Given the description of an element on the screen output the (x, y) to click on. 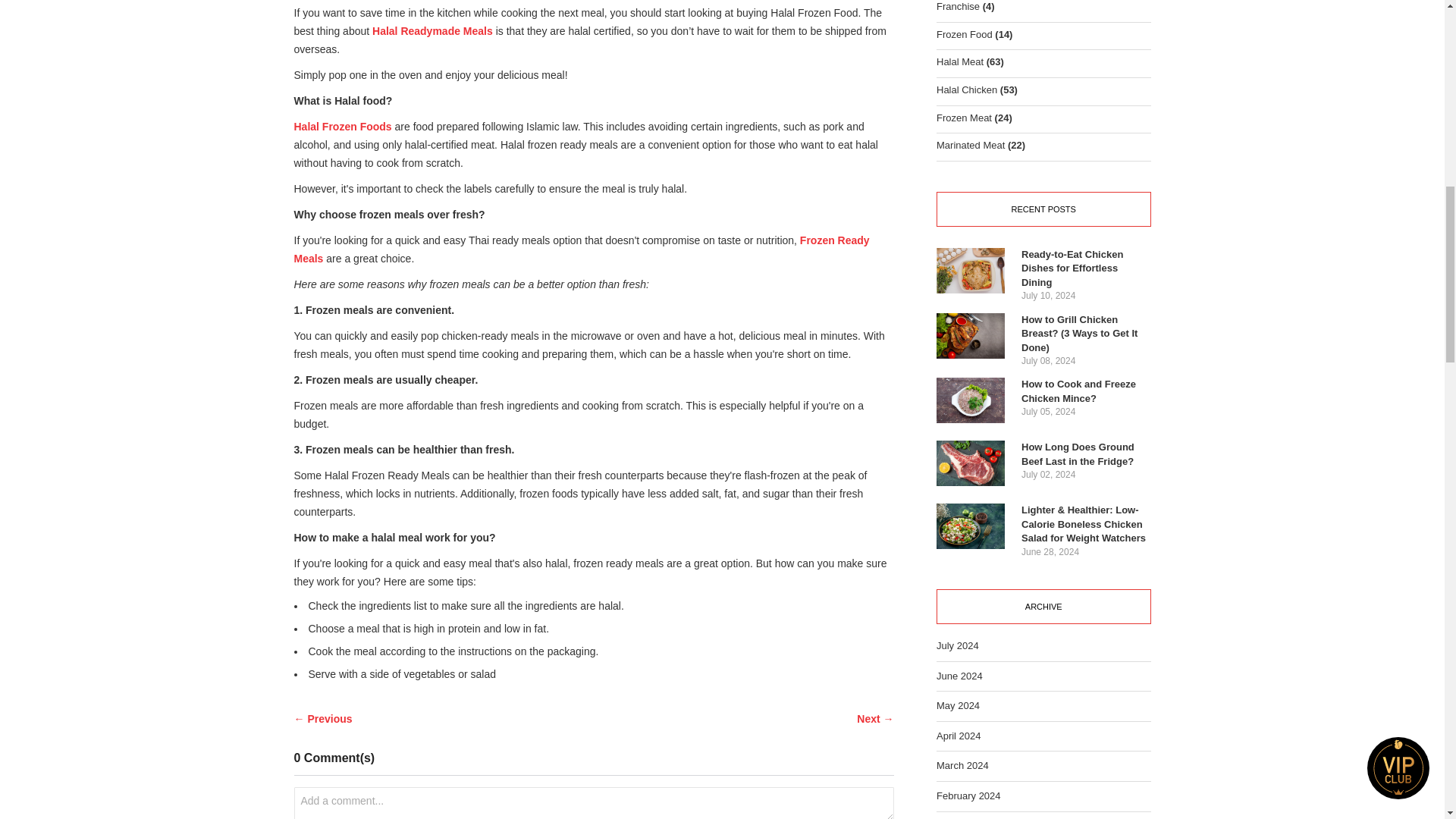
Read 2 Spaghetti Bolognese Dishes Everyone Can Enjoy! (875, 719)
